Given the description of an element on the screen output the (x, y) to click on. 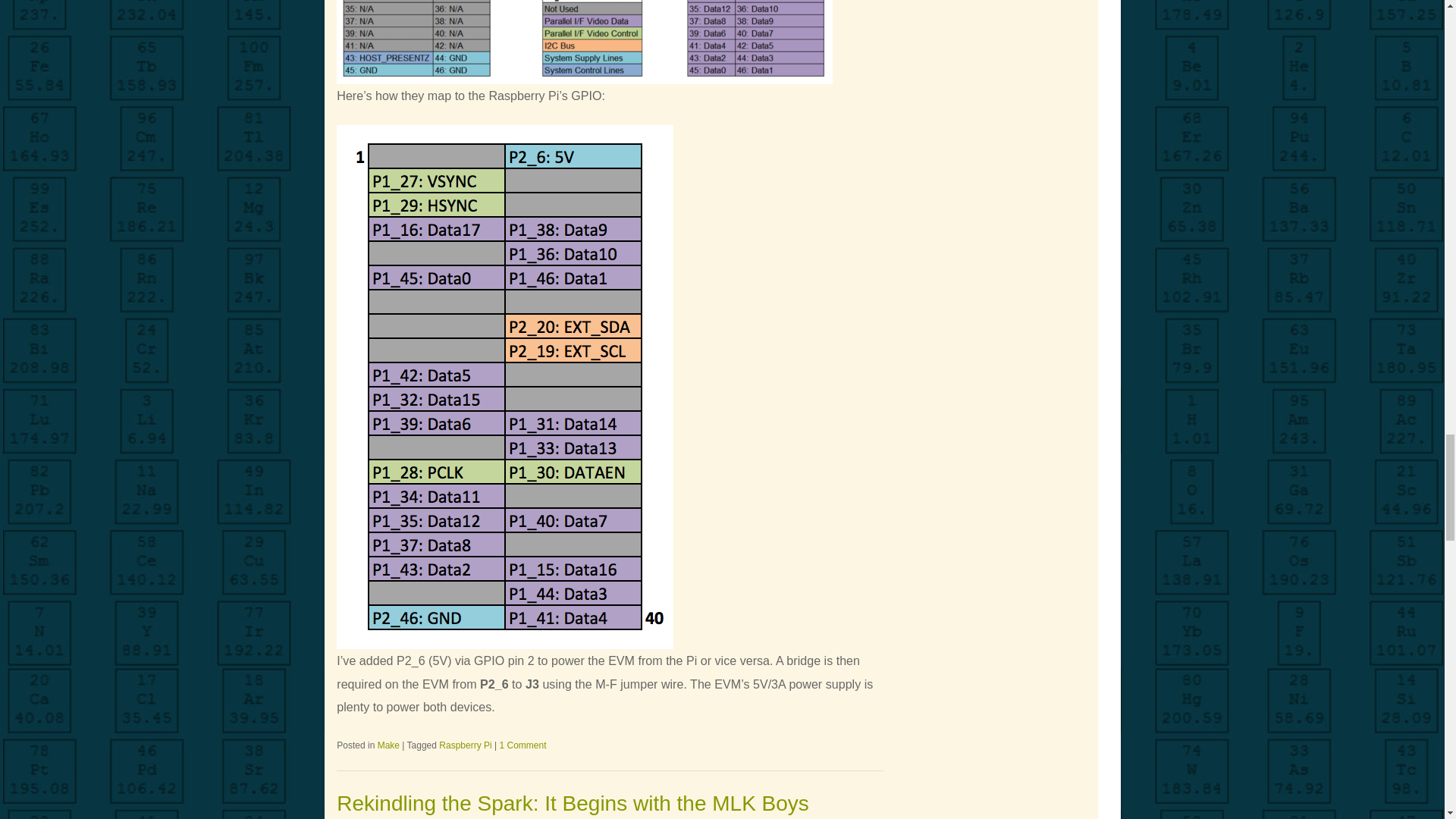
1 Comment (522, 745)
Rekindling the Spark: It Begins with the MLK Boys Academy (572, 805)
Raspberry Pi (465, 745)
Make (387, 745)
